Given the description of an element on the screen output the (x, y) to click on. 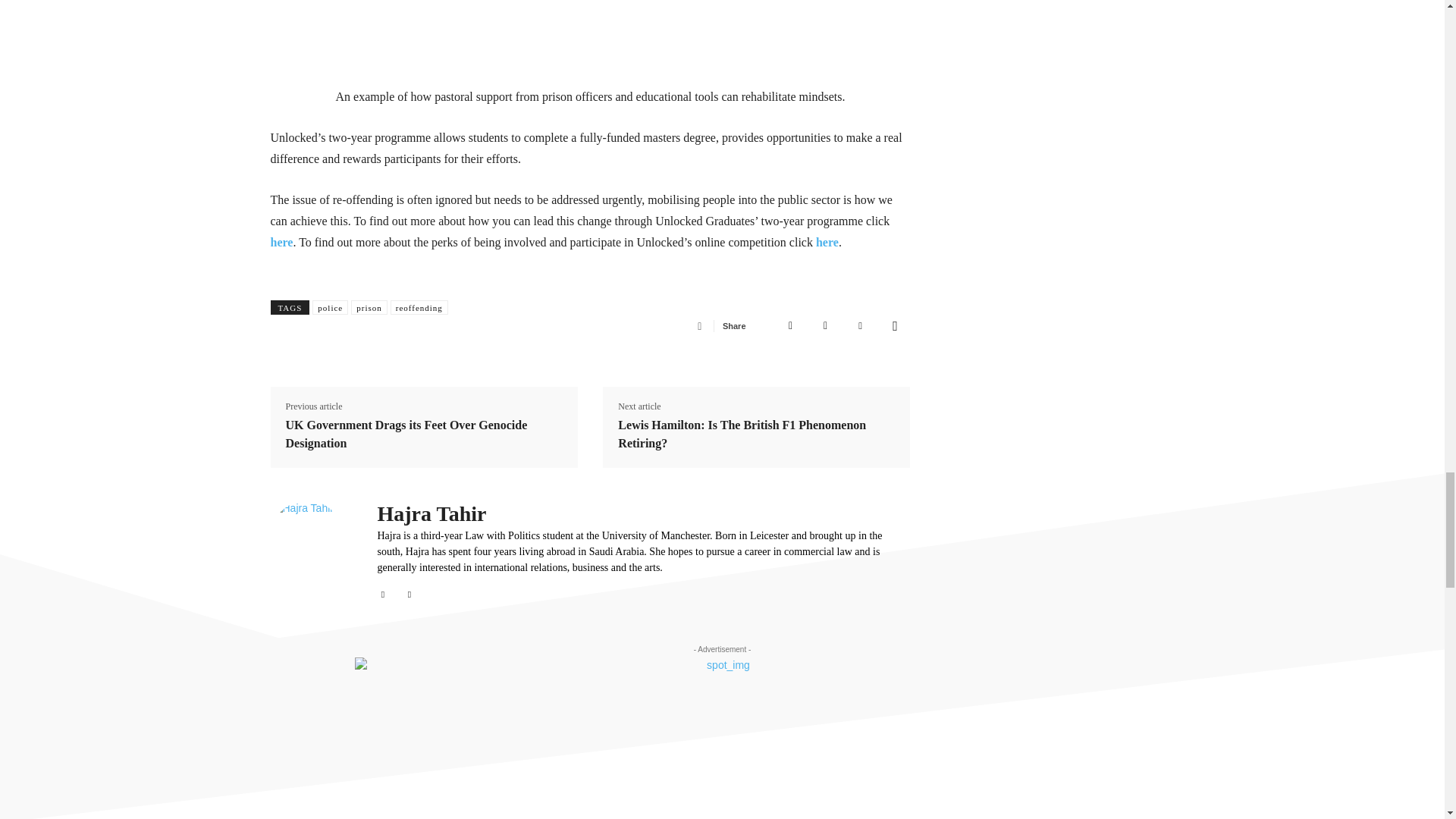
here (280, 241)
police (330, 307)
here (826, 241)
Prisoner Voices: Andrew (589, 37)
reoffending (419, 307)
prison (368, 307)
